Given the description of an element on the screen output the (x, y) to click on. 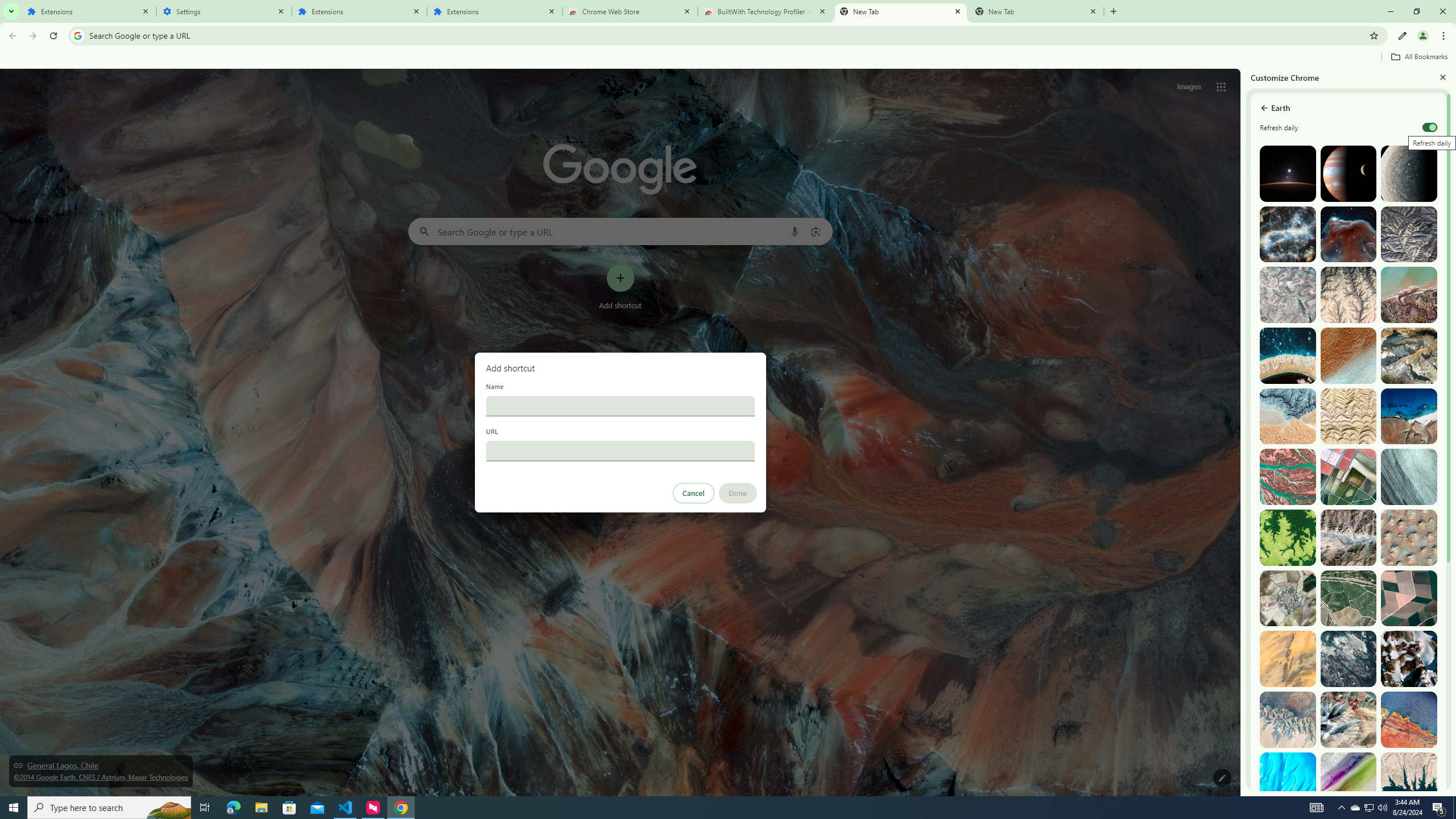
Extensions (88, 11)
